Given the description of an element on the screen output the (x, y) to click on. 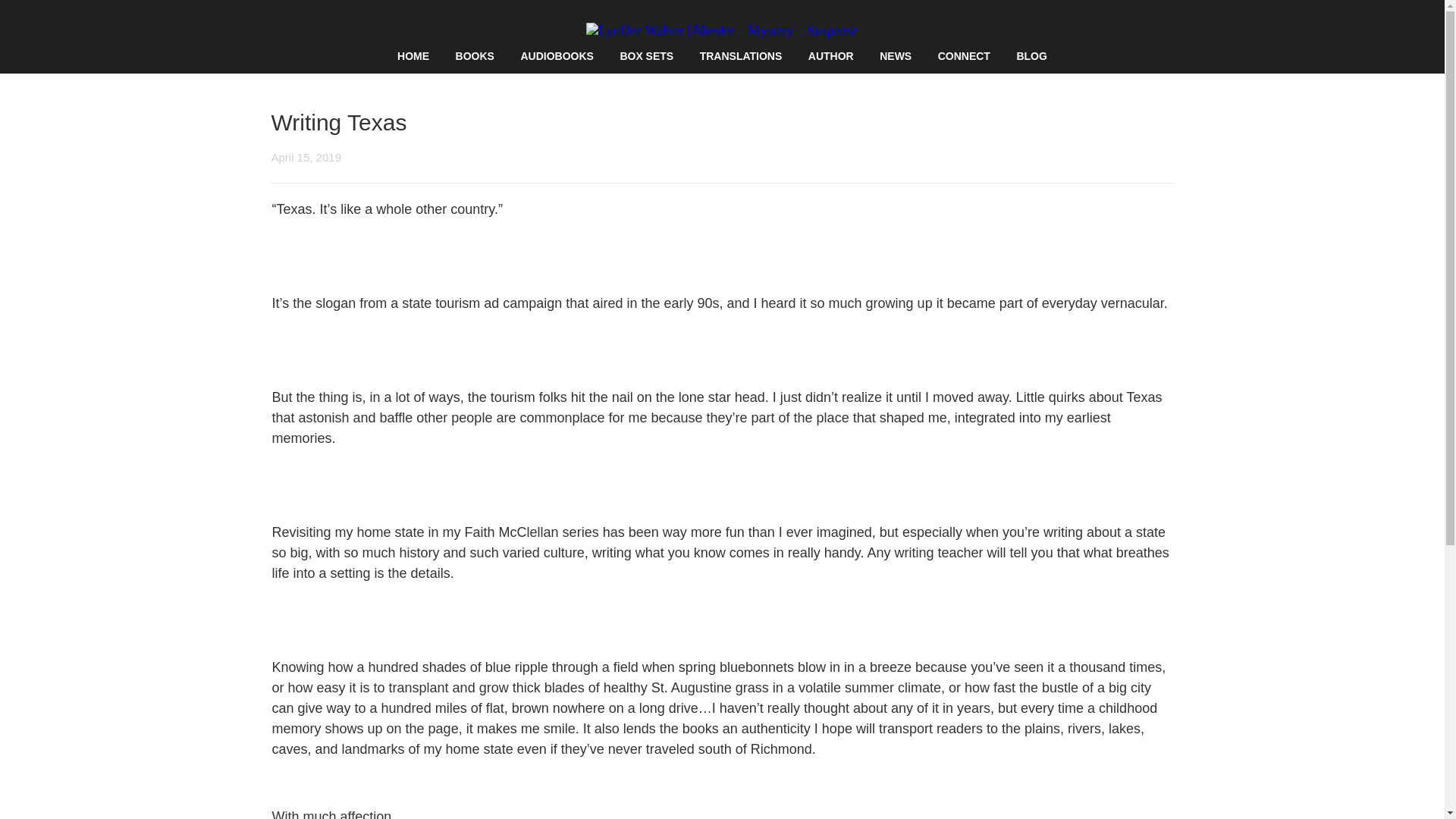
HOME (413, 55)
BLOG (1031, 55)
TRANSLATIONS (741, 55)
CONNECT (963, 55)
BOX SETS (646, 55)
AUTHOR (830, 55)
AUDIOBOOKS (555, 55)
BOOKS (475, 55)
NEWS (895, 55)
